Given the description of an element on the screen output the (x, y) to click on. 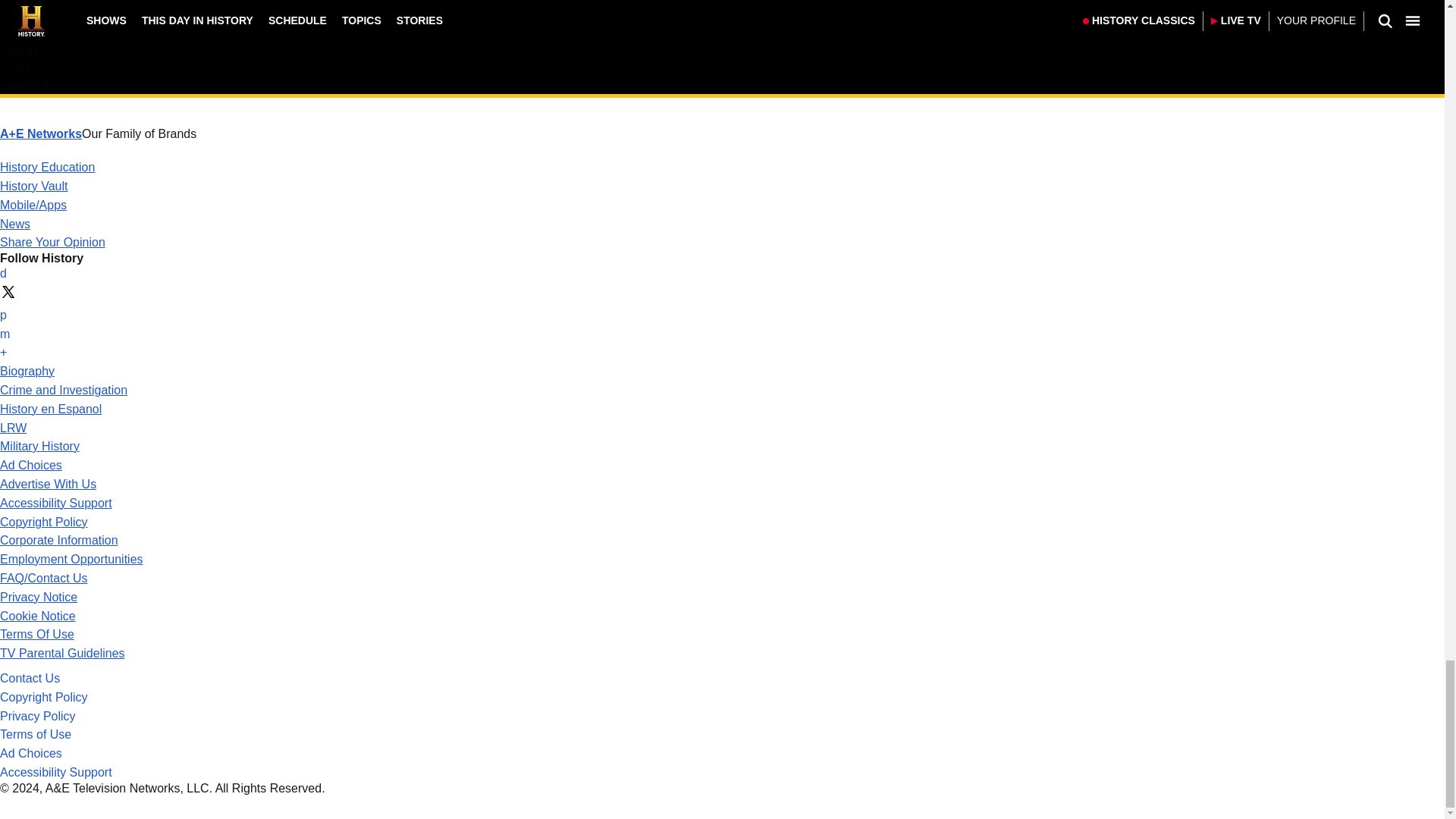
Visit Advertise With Us (48, 483)
Visit Military History (40, 445)
Visit Cookie Notice (37, 615)
Visit History Vault (34, 185)
Visit Corporate Information (58, 540)
Visit LRW (13, 427)
Visit Biography (27, 370)
Visit Crime and Investigation (64, 390)
Visit Share Your Opinion (52, 241)
Visit Employment Opportunities (71, 558)
Visit Privacy Notice (38, 596)
Visit Ad Choices (31, 464)
Visit Accessibility Support (56, 502)
Visit History Education (47, 166)
Visit History en Espanol (50, 408)
